Given the description of an element on the screen output the (x, y) to click on. 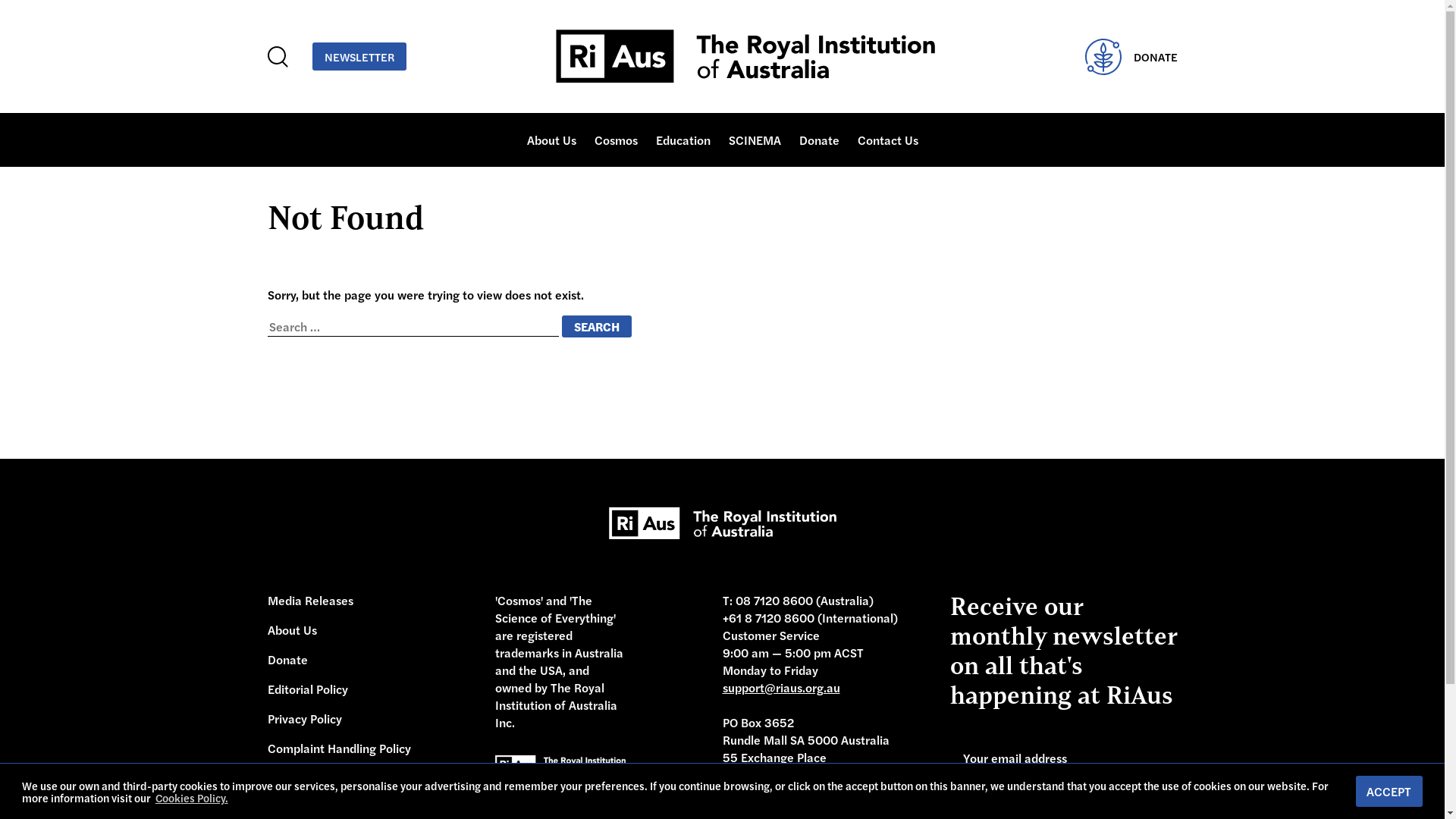
ACCEPT Element type: text (1389, 790)
Search Element type: text (595, 326)
Complaint Handling Policy Element type: text (338, 747)
Donate Element type: text (286, 659)
RiAus Element type: hover (745, 56)
DONATE Element type: text (1130, 56)
Terms & Conditions Element type: text (320, 777)
Donate Element type: text (819, 139)
Privacy Policy Element type: text (303, 718)
NEWSLETTER Element type: text (359, 56)
Education Element type: text (682, 139)
Editorial Policy Element type: text (306, 688)
Media Releases Element type: text (309, 599)
support@riaus.org.au Element type: text (780, 687)
Organisation Element type: text (575, 181)
About Us Element type: text (291, 629)
Cosmos Element type: text (615, 139)
SCINEMA Element type: text (753, 139)
Cookies Policy. Element type: text (191, 797)
About Us Element type: text (550, 139)
Contact Us Element type: text (886, 139)
